Given the description of an element on the screen output the (x, y) to click on. 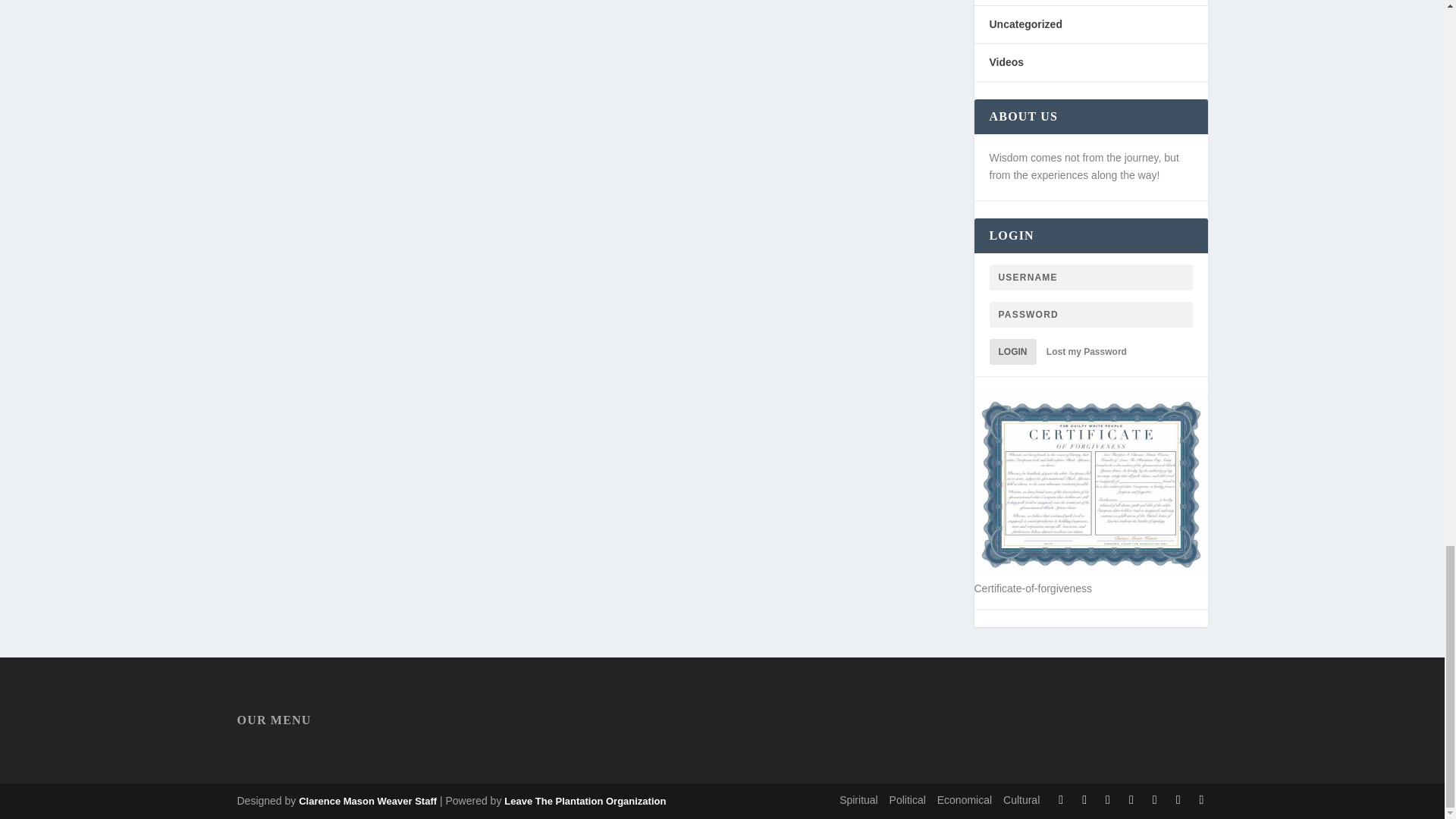
Leave the Plantation Organization (367, 800)
